Given the description of an element on the screen output the (x, y) to click on. 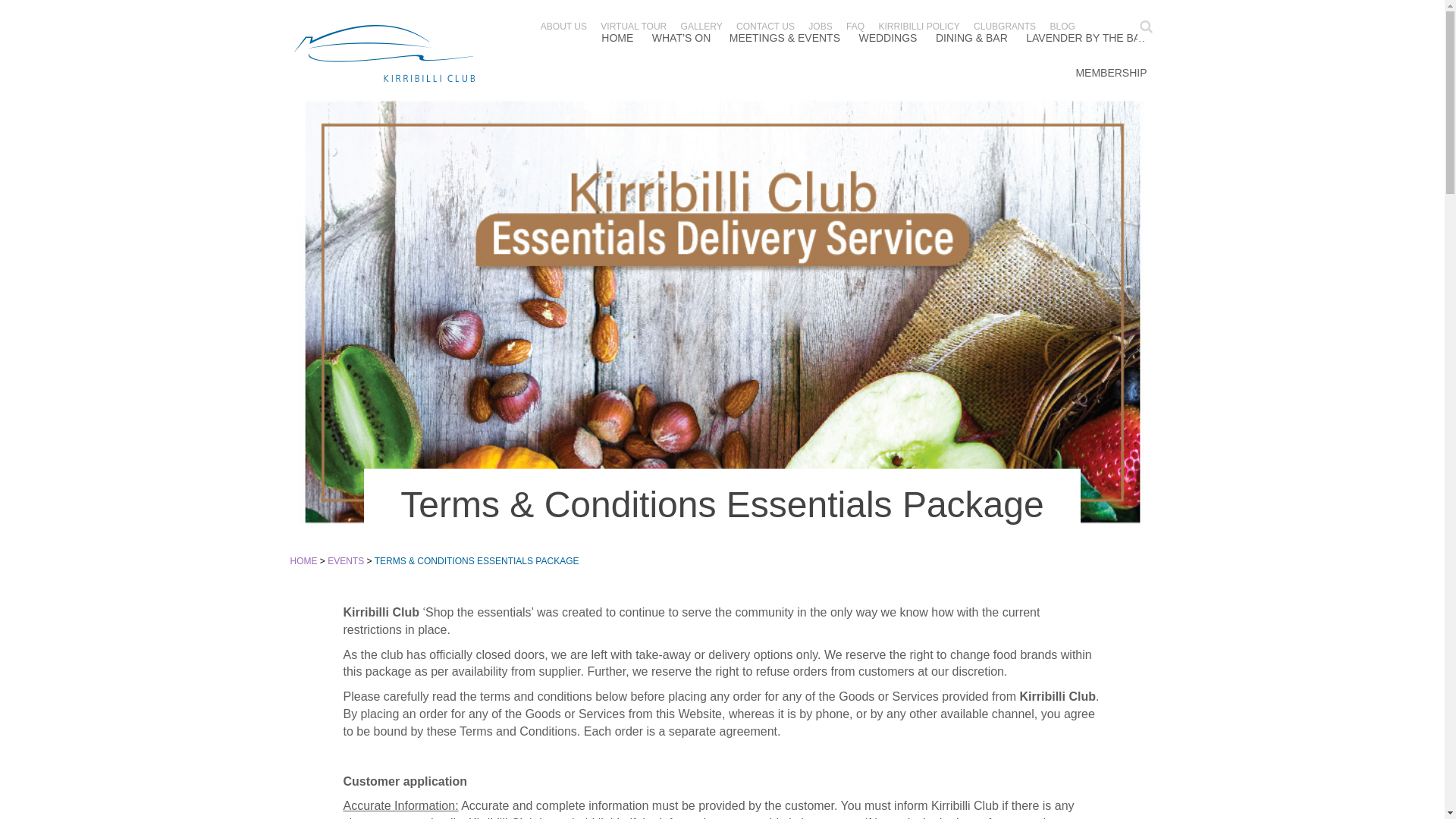
KIRRIBILLI POLICY (918, 26)
Kirribilli Club - Great Times Harbourside (384, 53)
Kirribilli Club (384, 53)
Search (1145, 27)
ABOUT US (563, 26)
GALLERY (701, 26)
HOME (617, 39)
CLUBGRANTS (1004, 26)
VIRTUAL TOUR (632, 26)
CONTACT US (765, 26)
